Given the description of an element on the screen output the (x, y) to click on. 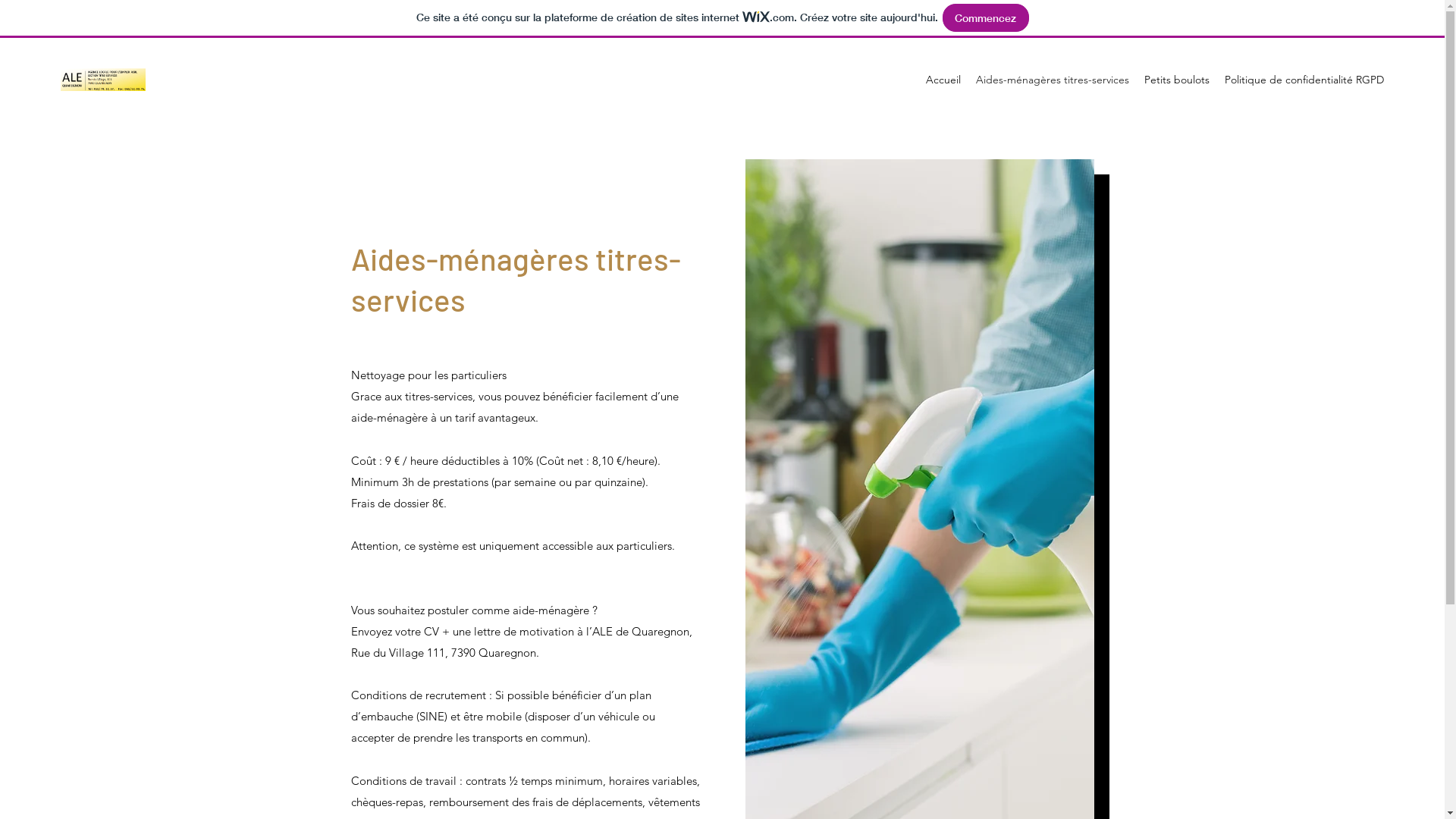
Petits boulots Element type: text (1176, 79)
Accueil Element type: text (943, 79)
